Given the description of an element on the screen output the (x, y) to click on. 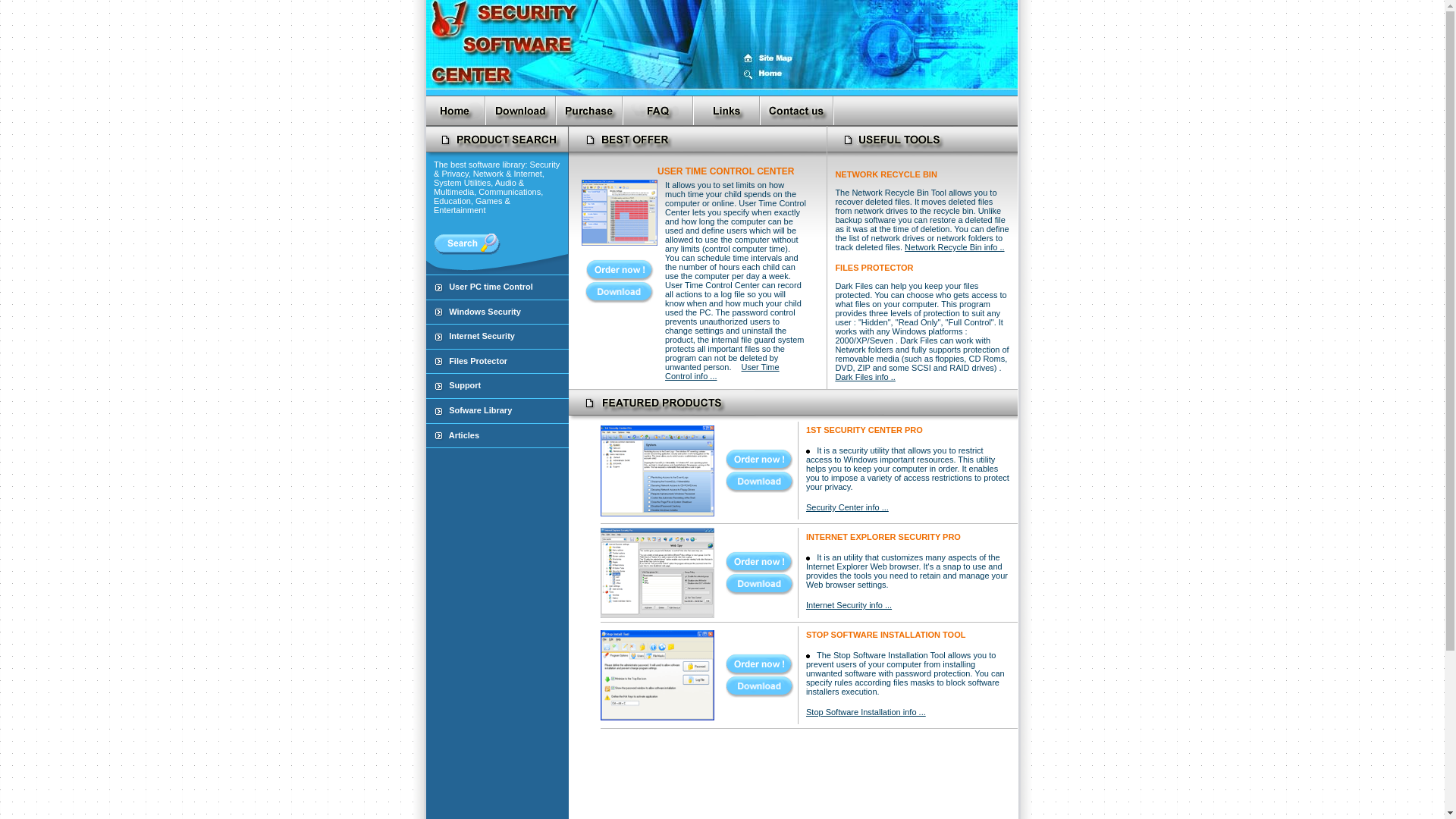
User PC time Control Element type: text (490, 286)
Security Center info ... Element type: text (847, 506)
Files Protector Element type: text (477, 360)
Stop Software Installation info ... Element type: text (865, 711)
Internet Security Element type: text (481, 335)
Internet Security info ... Element type: text (848, 604)
Articles Element type: text (463, 434)
Dark Files info .. Element type: text (864, 376)
USER TIME CONTROL CENTER Element type: text (725, 171)
search software Element type: hover (467, 244)
Sofware Library Element type: text (479, 409)
User Time Control info ... Element type: text (722, 375)
Network Recycle Bin info .. Element type: text (954, 246)
Support Element type: text (464, 384)
Windows Security Element type: text (484, 311)
